Given the description of an element on the screen output the (x, y) to click on. 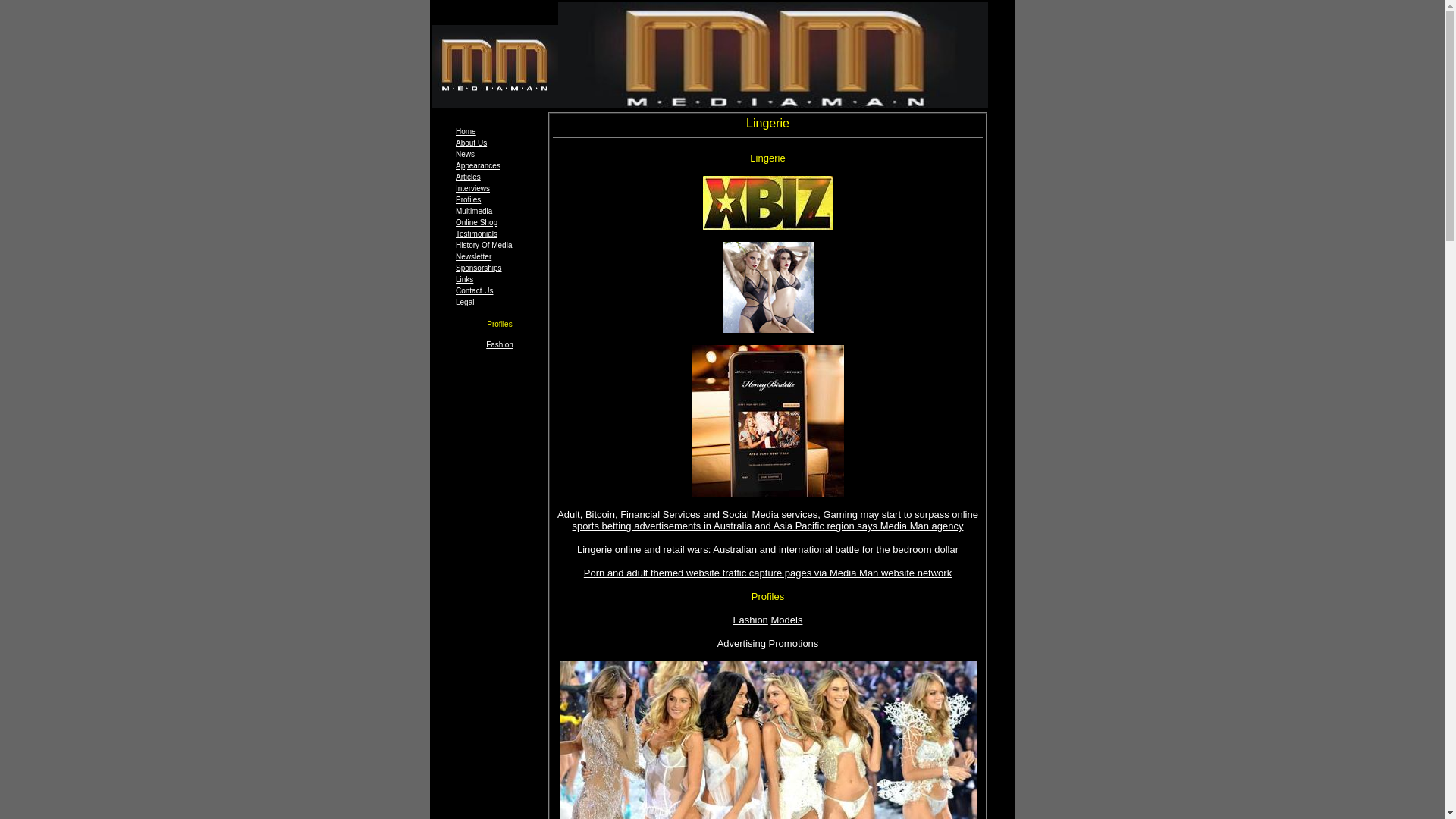
Online Shop Element type: text (476, 222)
About Us Element type: text (470, 142)
Home Element type: text (465, 131)
Testimonials Element type: text (476, 233)
Fashion Element type: text (750, 619)
News Element type: text (464, 154)
Interviews Element type: text (472, 188)
Advertising Element type: text (741, 643)
Promotions Element type: text (793, 643)
Appearances Element type: text (477, 165)
Links Element type: text (464, 279)
History Of Media Element type: text (483, 245)
Articles Element type: text (467, 176)
Contact Us Element type: text (473, 290)
Multimedia Element type: text (473, 211)
Legal Element type: text (464, 302)
Models Element type: text (786, 619)
Sponsorships Element type: text (478, 267)
Profiles Element type: text (467, 199)
Fashion Element type: text (499, 344)
Newsletter Element type: text (473, 256)
